Given the description of an element on the screen output the (x, y) to click on. 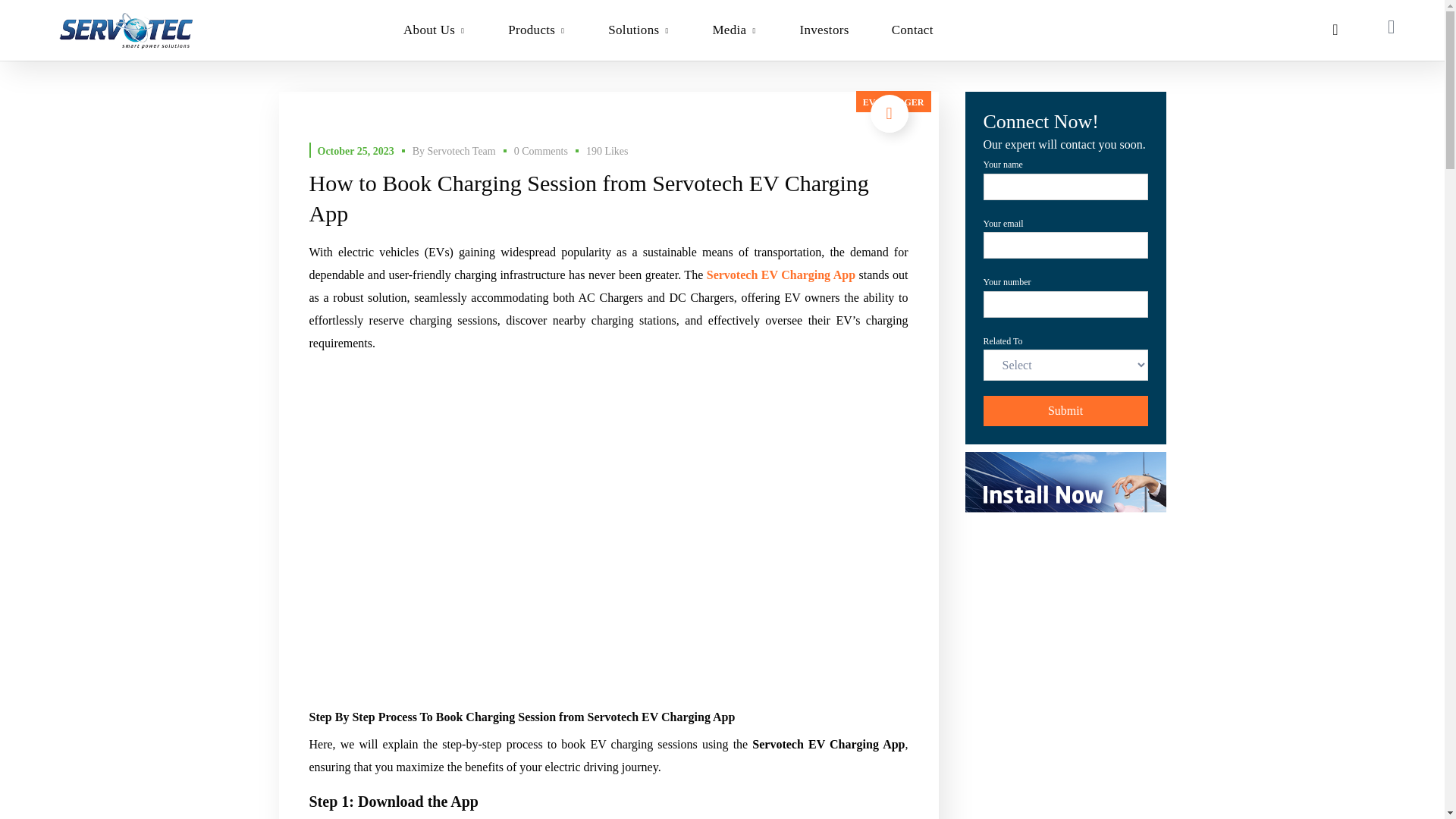
Investors (823, 30)
Products (536, 30)
Like (607, 151)
Contact (912, 30)
About Us (433, 30)
Submit (1064, 410)
Solutions (638, 30)
Media (733, 30)
Search (1064, 441)
Leave a reply (540, 151)
